Given the description of an element on the screen output the (x, y) to click on. 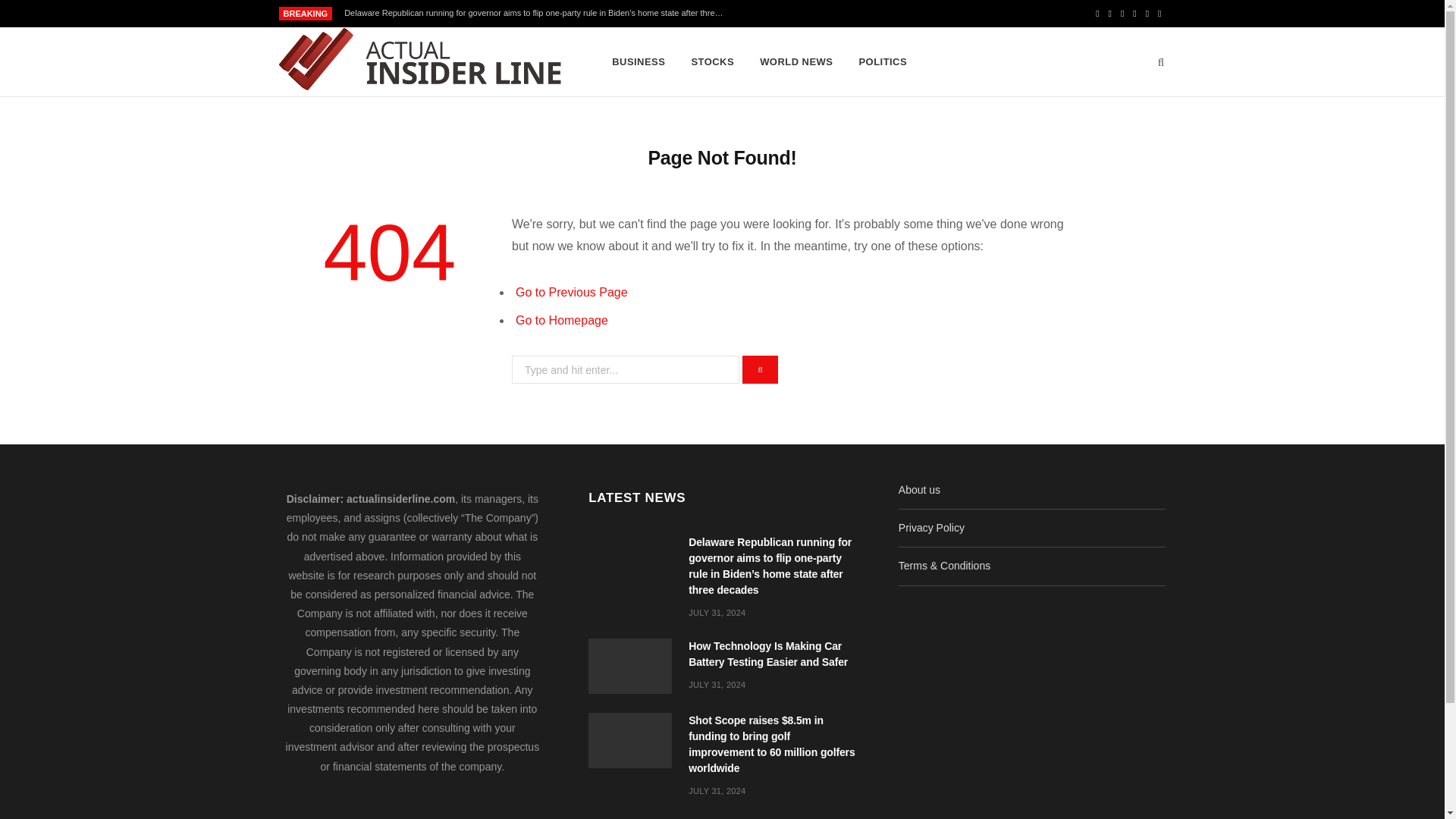
STOCKS (712, 61)
Go to Homepage (561, 319)
WORLD NEWS (796, 61)
Search for: (625, 369)
JULY 31, 2024 (716, 612)
Privacy Policy (930, 527)
Go to Previous Page (571, 291)
BUSINESS (638, 61)
JULY 31, 2024 (716, 790)
JULY 31, 2024 (716, 684)
About us (919, 490)
POLITICS (882, 61)
Actual Insider Line (421, 61)
